Given the description of an element on the screen output the (x, y) to click on. 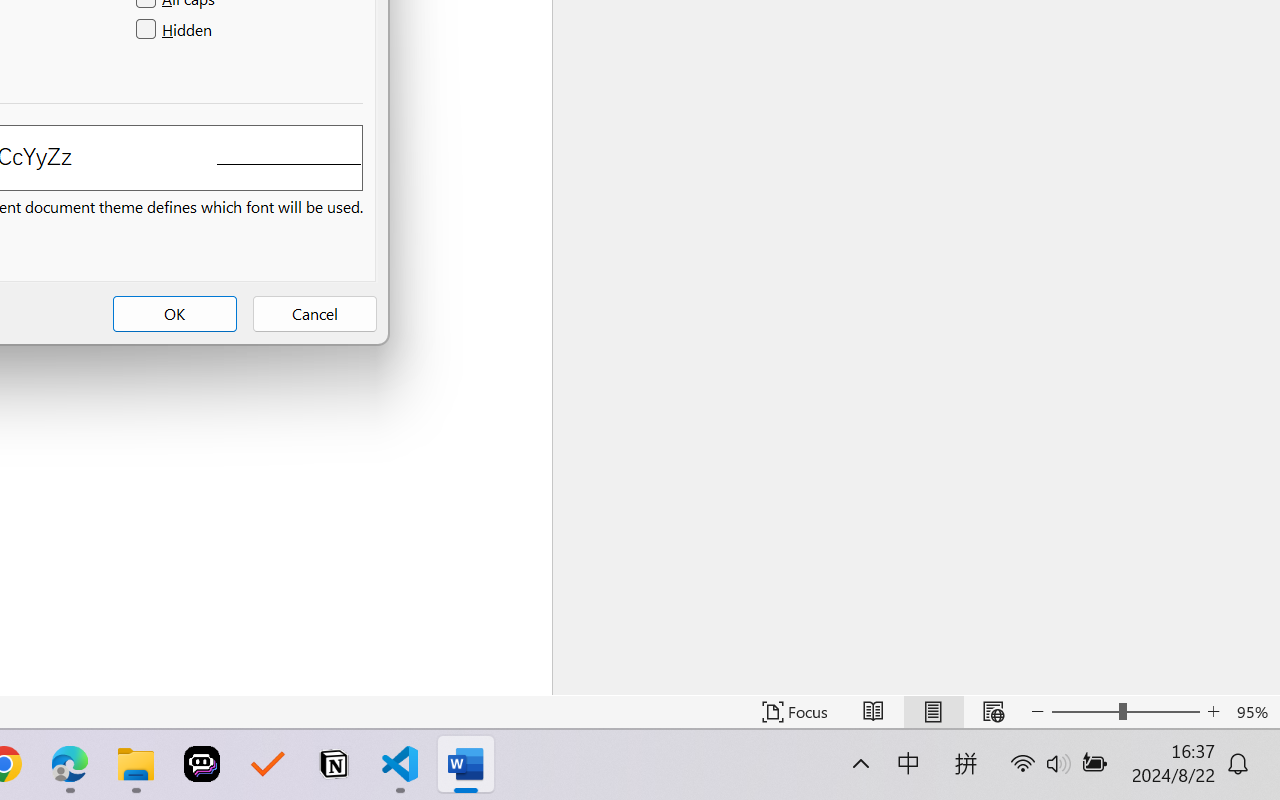
Zoom 95% (1253, 712)
OK (175, 313)
Hidden (175, 29)
Poe (201, 764)
Notion (333, 764)
